Given the description of an element on the screen output the (x, y) to click on. 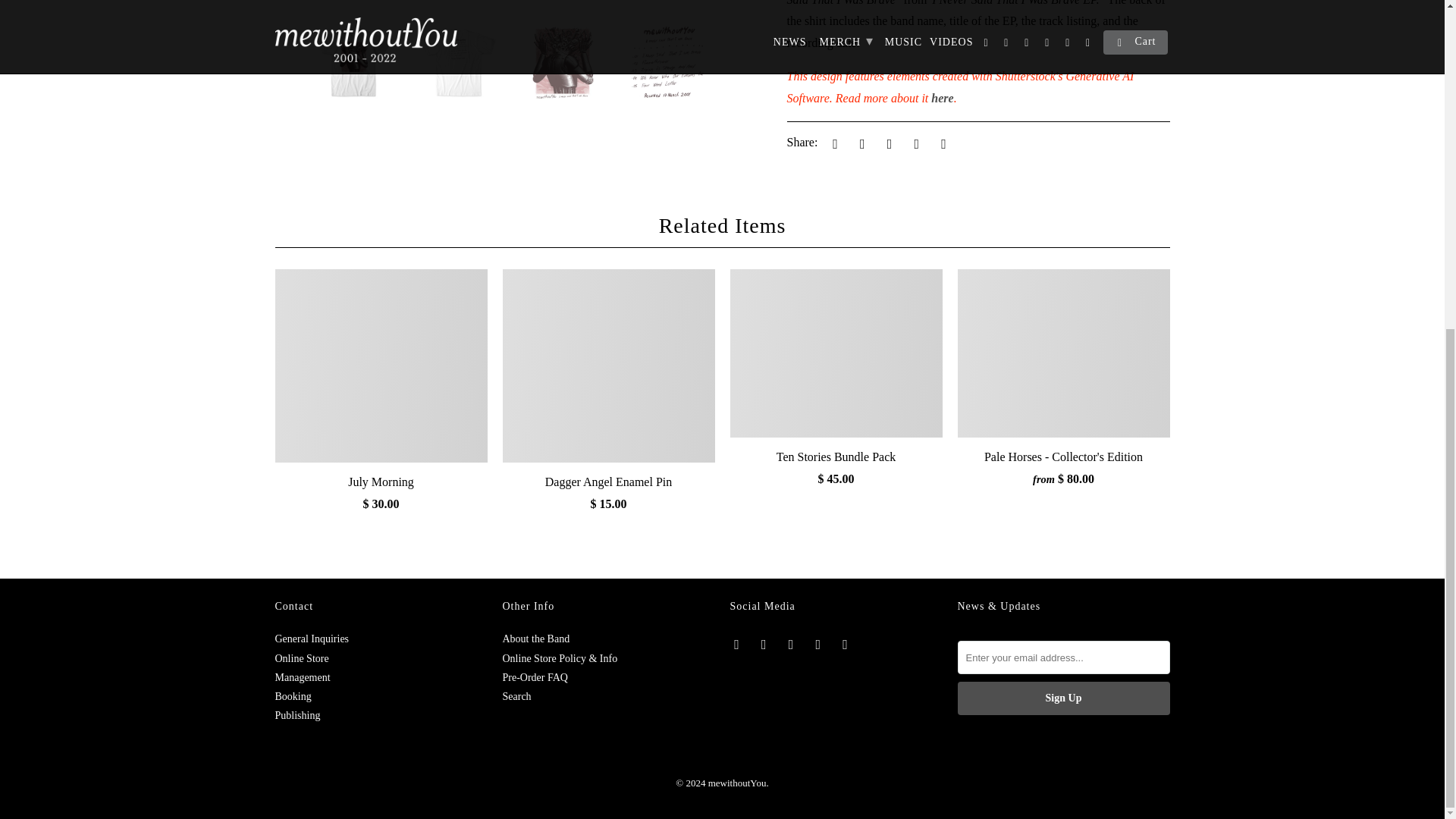
Share this on Twitter (832, 142)
Email this to a friend (940, 142)
Sign Up (1062, 697)
Never Dream (137, 5)
Share this on Pinterest (887, 142)
Share this on Facebook (859, 142)
